Given the description of an element on the screen output the (x, y) to click on. 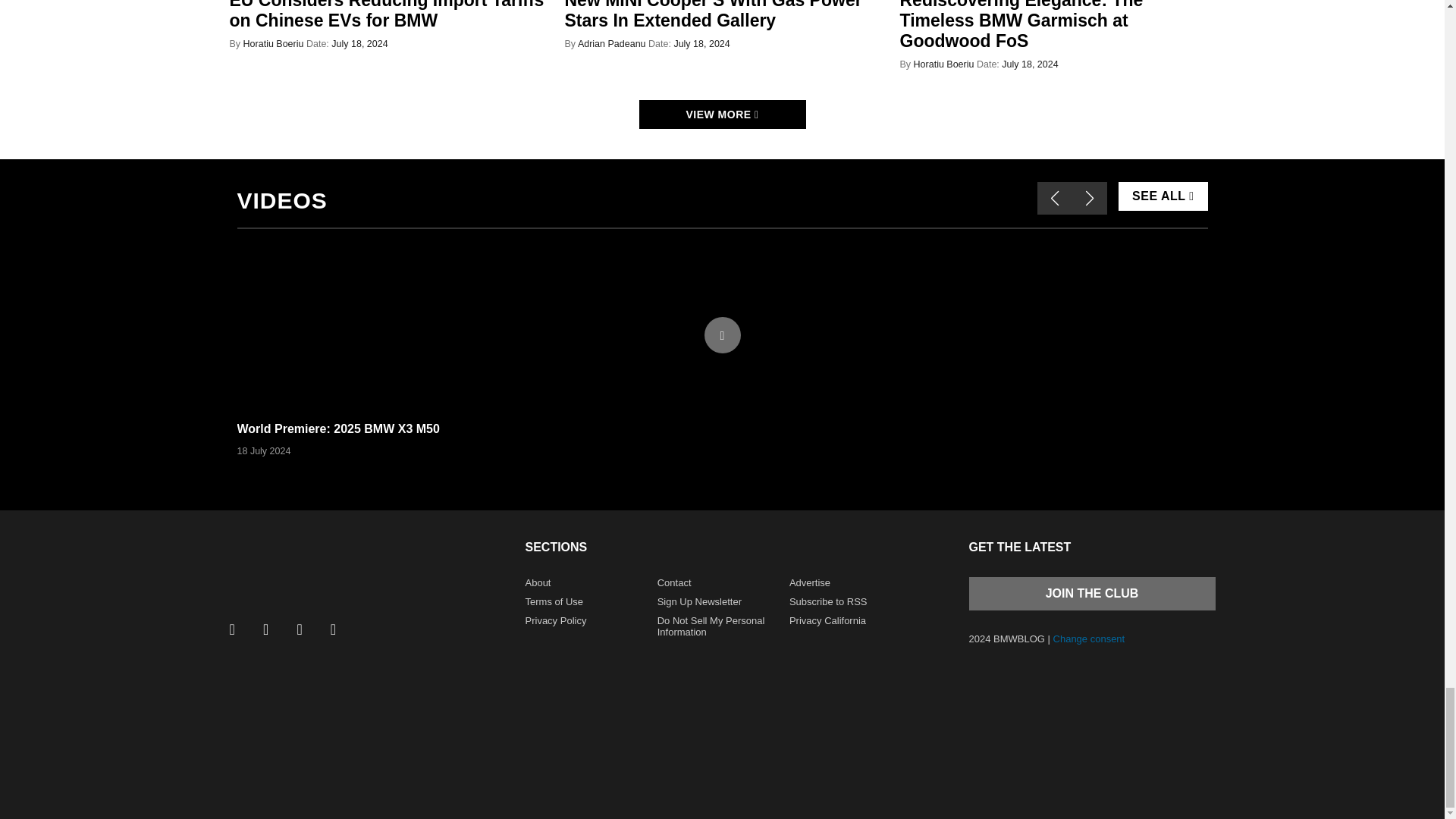
Join the club (1092, 593)
